Given the description of an element on the screen output the (x, y) to click on. 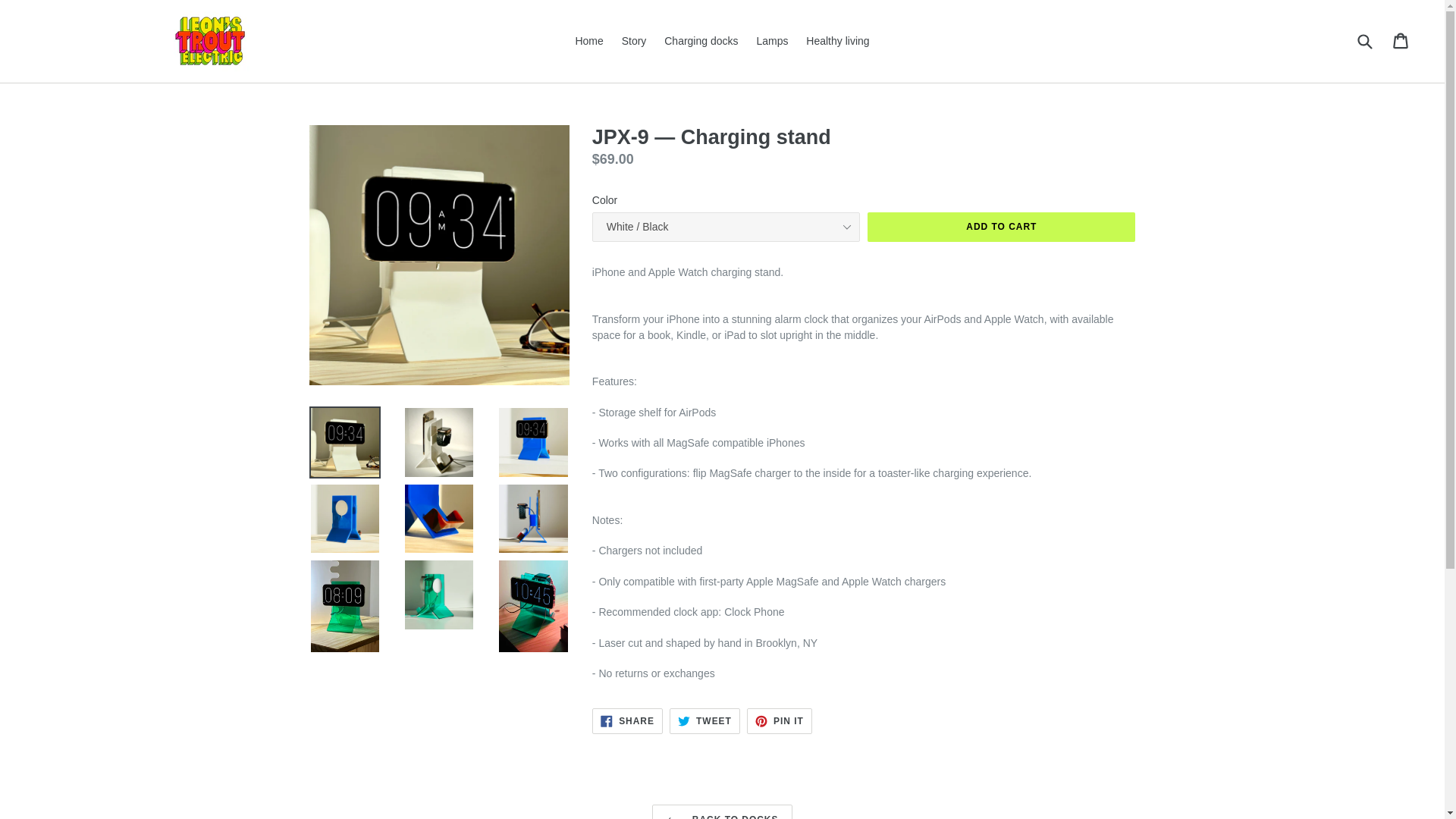
Tweet on Twitter (704, 720)
BACK TO DOCKS (779, 720)
ADD TO CART (722, 811)
Charging docks (1001, 226)
Share on Facebook (700, 41)
Pin on Pinterest (1401, 40)
Home (627, 720)
Story (779, 720)
Healthy living (588, 41)
Lamps (633, 41)
Submit (704, 720)
